Given the description of an element on the screen output the (x, y) to click on. 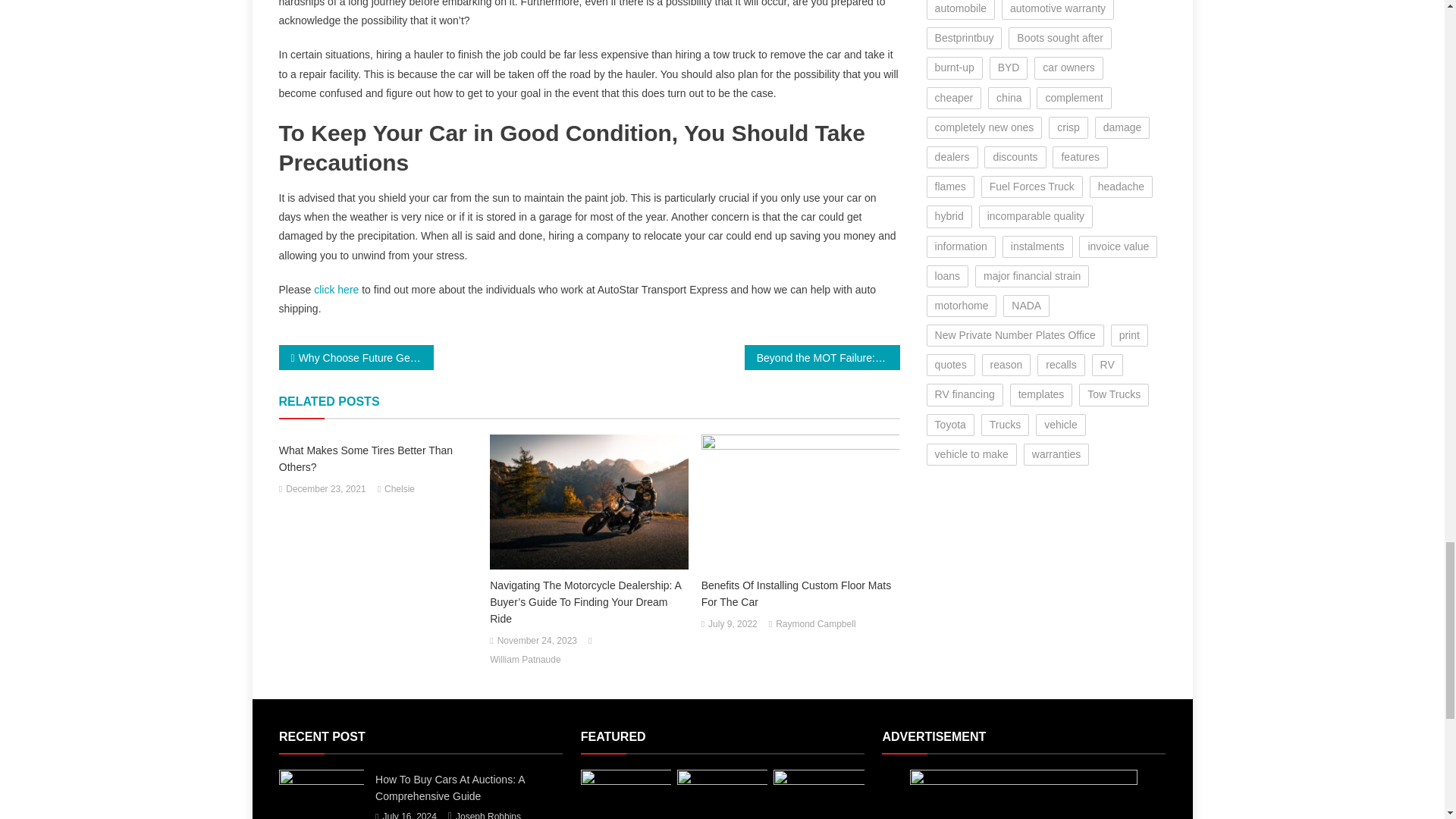
July 9, 2022 (732, 624)
What Makes Some Tires Better Than Others? (378, 458)
Benefits Of Installing Custom Floor Mats For The Car (800, 593)
Chelsie (399, 489)
click here (336, 289)
December 23, 2021 (325, 489)
Raymond Campbell (816, 624)
November 24, 2023 (536, 641)
William Patnaude (524, 660)
